Given the description of an element on the screen output the (x, y) to click on. 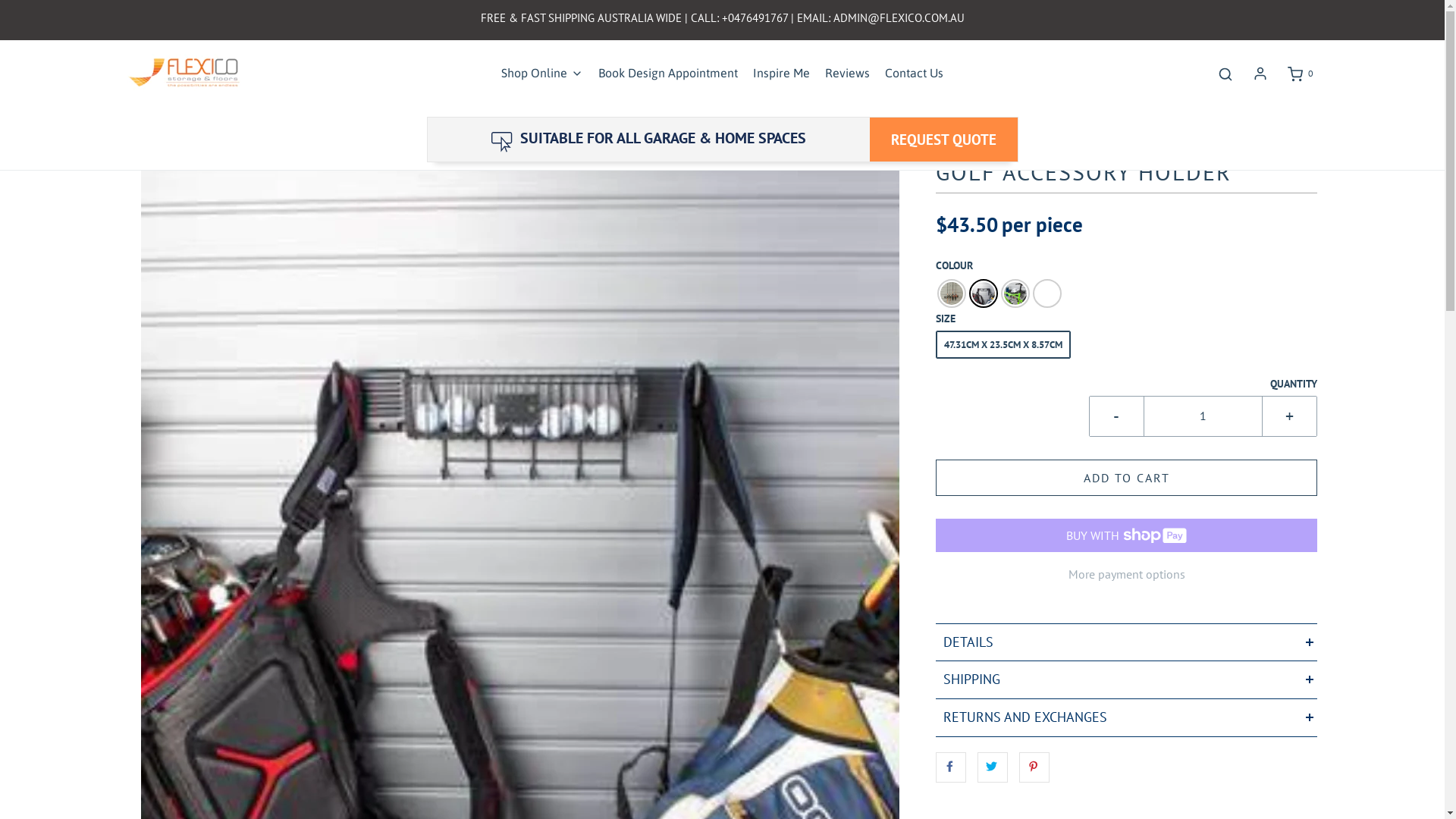
Log in Element type: hover (1259, 73)
Inspire Me Element type: text (781, 73)
REQUEST QUOTE Element type: text (943, 139)
Reviews Element type: text (847, 73)
Book Design Appointment Element type: text (667, 73)
ADMIN@FLEXICO.COM.AU Element type: text (897, 17)
Contact Us Element type: text (913, 73)
Tennis Accessory Holder Element type: hover (1046, 293)
Shop Online Element type: text (542, 73)
Horizontal Bike Rack Element type: hover (1015, 293)
+0476491767 Element type: text (754, 17)
- Element type: text (1116, 416)
Search Element type: hover (1225, 73)
+ Element type: text (1289, 416)
0 Element type: text (1300, 73)
Fishing Rod Holder Element type: hover (951, 293)
ADD TO CART Element type: text (1126, 477)
Golf Accessory Holder Element type: hover (983, 293)
